Given the description of an element on the screen output the (x, y) to click on. 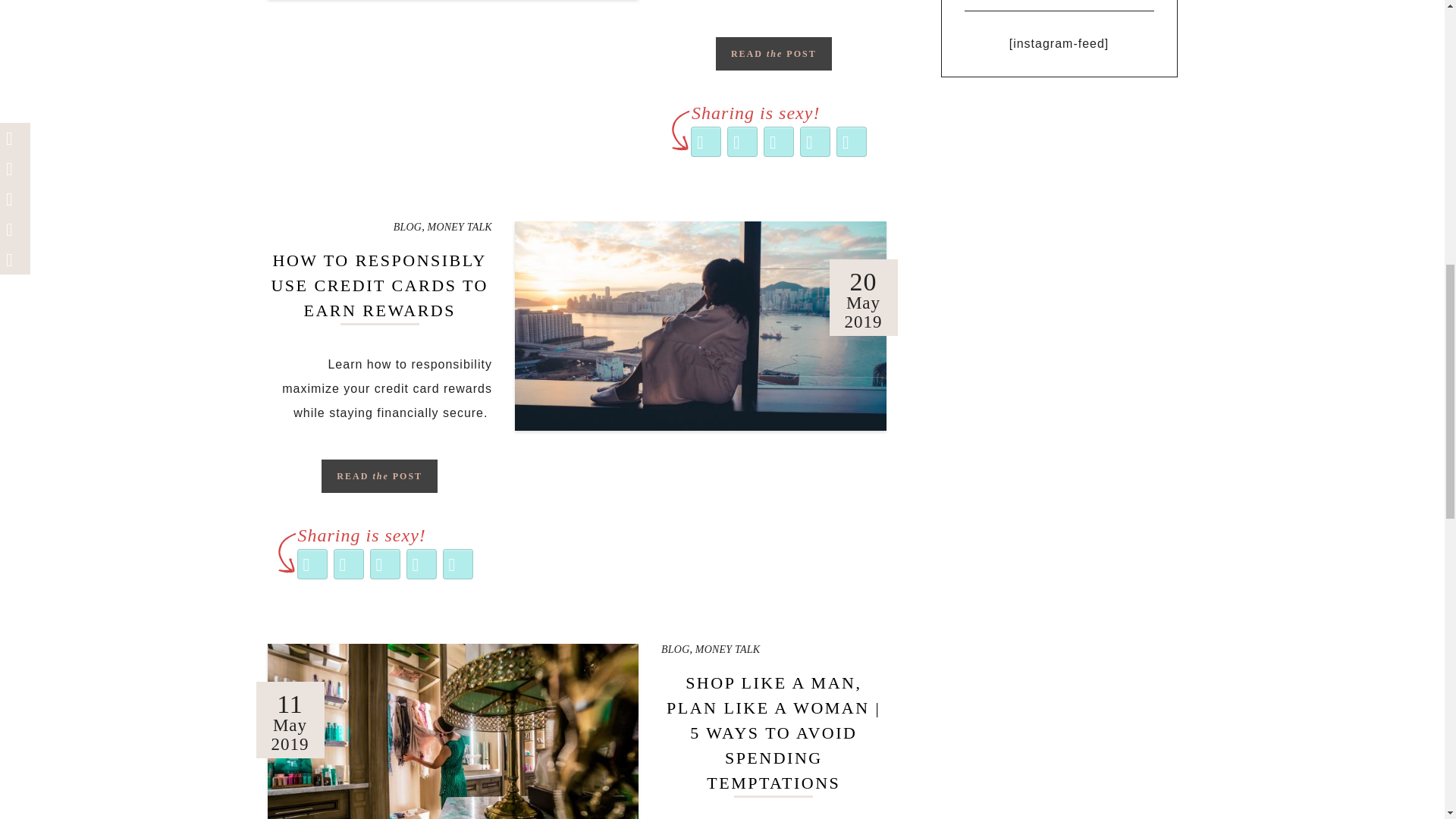
Pinterest (778, 141)
More Options (850, 141)
Pinterest (384, 564)
More Options (457, 564)
Email This (814, 141)
Facebook (348, 564)
Email This (421, 564)
Facebook (741, 141)
